Given the description of an element on the screen output the (x, y) to click on. 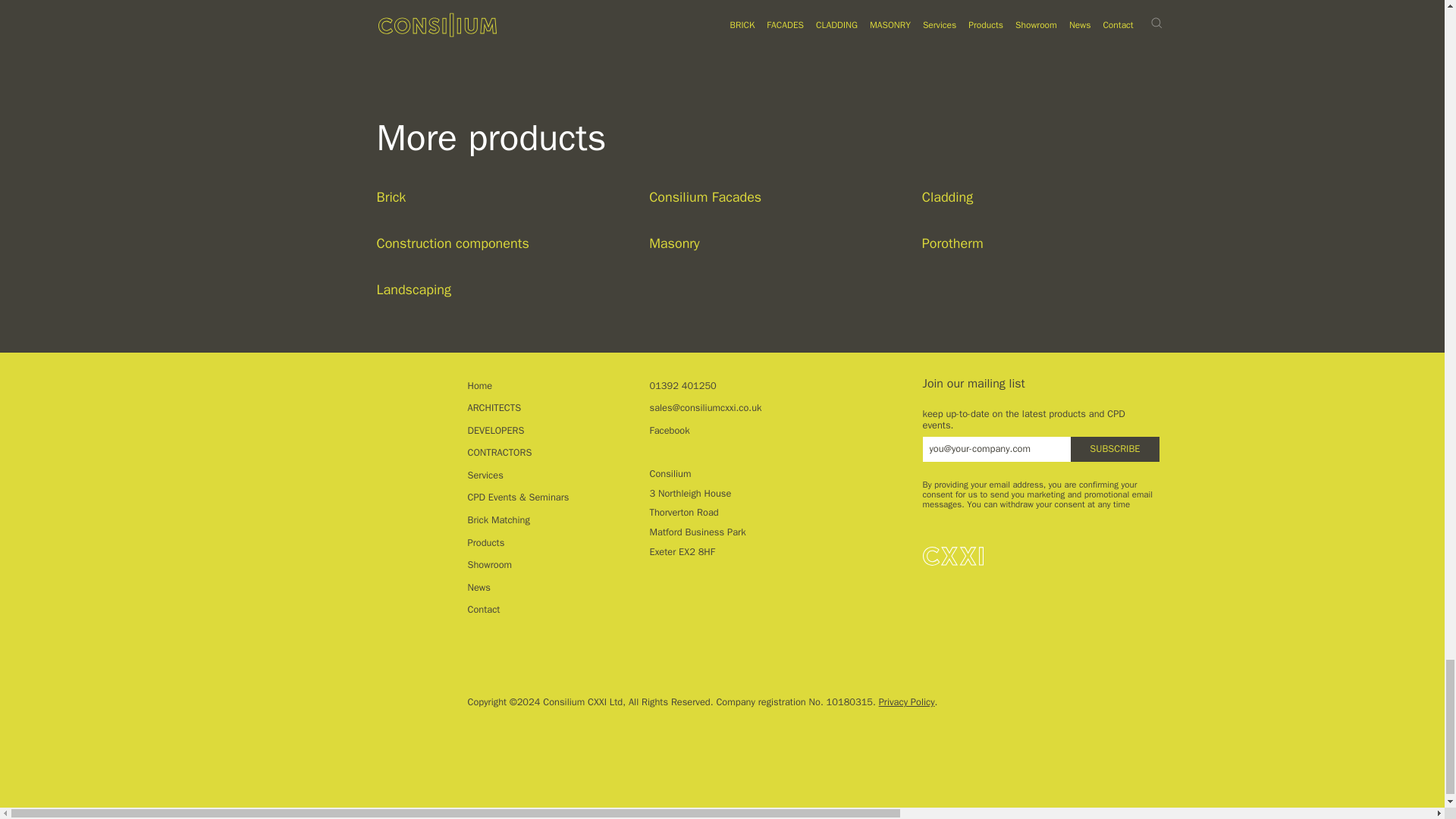
Subscribe (1114, 448)
01392 401250 (682, 386)
Brick (493, 188)
Cladding (1039, 188)
Showroom (489, 565)
Brick Matching (498, 520)
News (478, 588)
DEVELOPERS (495, 431)
Masonry (767, 234)
ARCHITECTS (494, 408)
Construction components (493, 234)
Contact (483, 609)
Landscaping (493, 280)
Products (485, 543)
Porotherm (1039, 234)
